Given the description of an element on the screen output the (x, y) to click on. 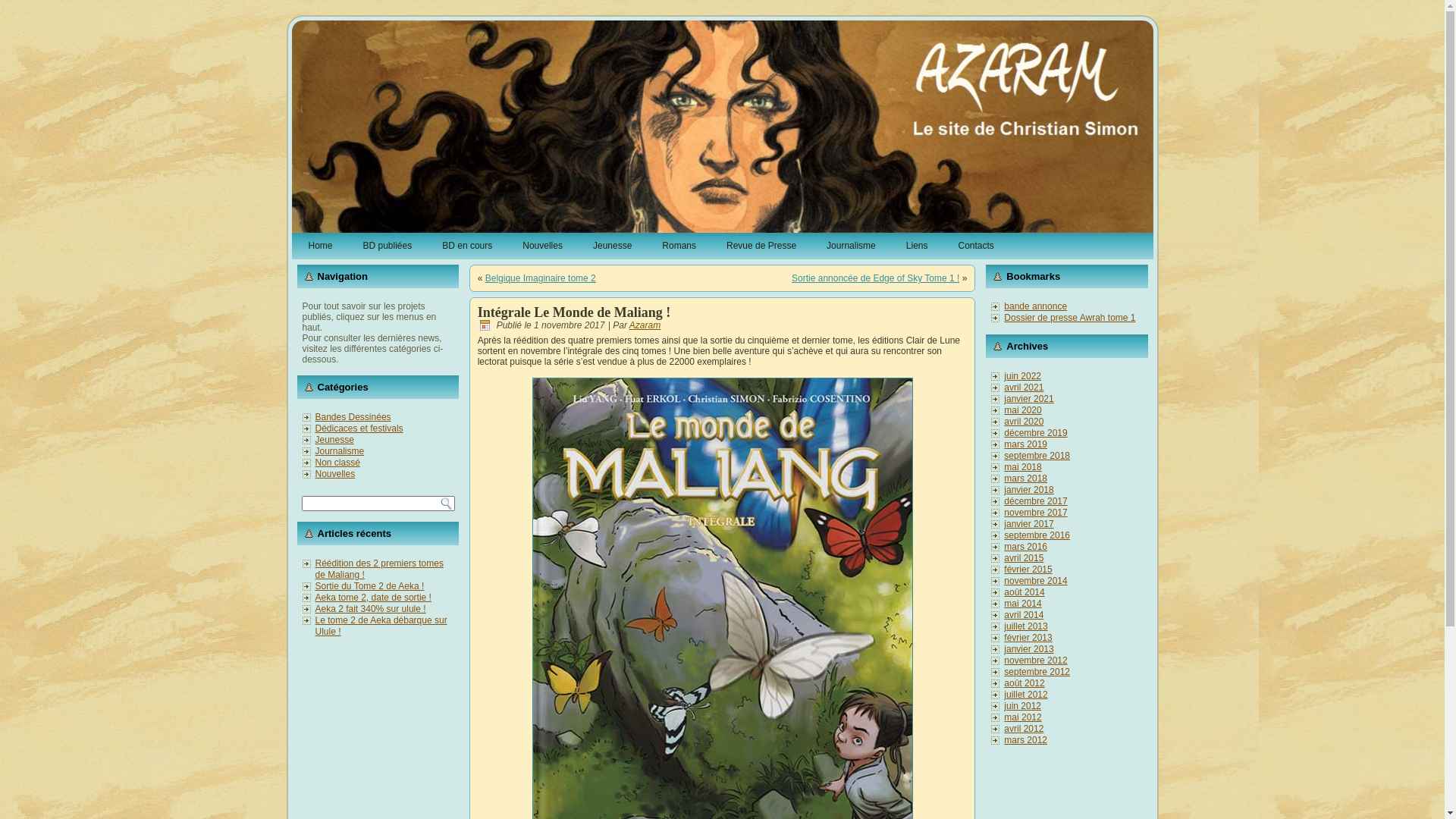
Revue de Presse Element type: text (761, 245)
juillet 2012 Element type: text (1025, 694)
mai 2012 Element type: text (1022, 717)
Dossier de presse Awrah tome 1 Element type: text (1069, 317)
juin 2012 Element type: text (1022, 705)
avril 2014 Element type: text (1023, 614)
Nouvelles Element type: text (335, 473)
Journalisme Element type: text (339, 450)
mars 2019 Element type: text (1025, 444)
bande annonce Element type: text (1035, 306)
novembre 2017 Element type: text (1035, 512)
mars 2018 Element type: text (1025, 478)
mars 2012 Element type: text (1025, 739)
Contacts Element type: text (975, 245)
avril 2015 Element type: text (1023, 557)
juin 2022 Element type: text (1022, 375)
Jeunesse Element type: text (334, 439)
Nouvelles Element type: text (542, 245)
janvier 2013 Element type: text (1028, 648)
mars 2016 Element type: text (1025, 546)
Romans Element type: text (679, 245)
BD en cours Element type: text (467, 245)
novembre 2014 Element type: text (1035, 580)
Belgique Imaginaire tome 2 Element type: text (540, 278)
avril 2021 Element type: text (1023, 387)
novembre 2012 Element type: text (1035, 660)
septembre 2018 Element type: text (1037, 455)
mai 2014 Element type: text (1022, 603)
Azaram Element type: text (644, 325)
septembre 2012 Element type: text (1037, 671)
Sortie du Tome 2 de Aeka ! Element type: text (369, 585)
janvier 2017 Element type: text (1028, 523)
janvier 2021 Element type: text (1028, 398)
Aeka tome 2, date de sortie ! Element type: text (373, 597)
Home Element type: text (320, 245)
avril 2012 Element type: text (1023, 728)
mai 2020 Element type: text (1022, 409)
Aeka 2 fait 340% sur ulule ! Element type: text (370, 608)
Journalisme Element type: text (850, 245)
Jeunesse Element type: text (612, 245)
janvier 2018 Element type: text (1028, 489)
avril 2020 Element type: text (1023, 421)
septembre 2016 Element type: text (1037, 535)
juillet 2013 Element type: text (1025, 626)
mai 2018 Element type: text (1022, 466)
Liens Element type: text (917, 245)
